Given the description of an element on the screen output the (x, y) to click on. 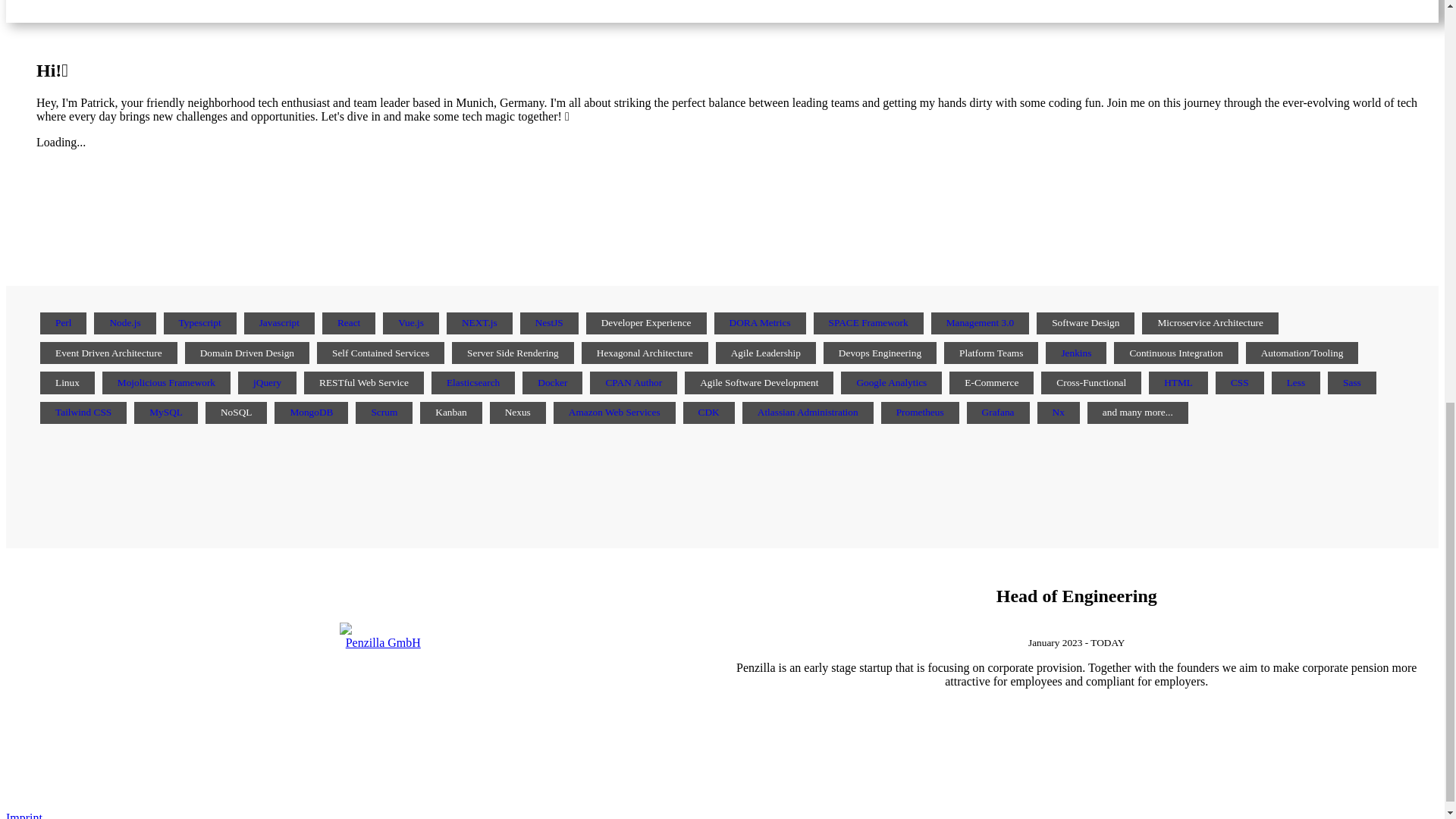
MongoDB (311, 411)
Less (1295, 382)
Nx (1058, 411)
CPAN Author (633, 382)
Javascript (279, 322)
Google Analytics (891, 382)
NestJS (549, 322)
Vue.js (410, 322)
Elasticsearch (472, 382)
Atlassian Administration (808, 411)
